Given the description of an element on the screen output the (x, y) to click on. 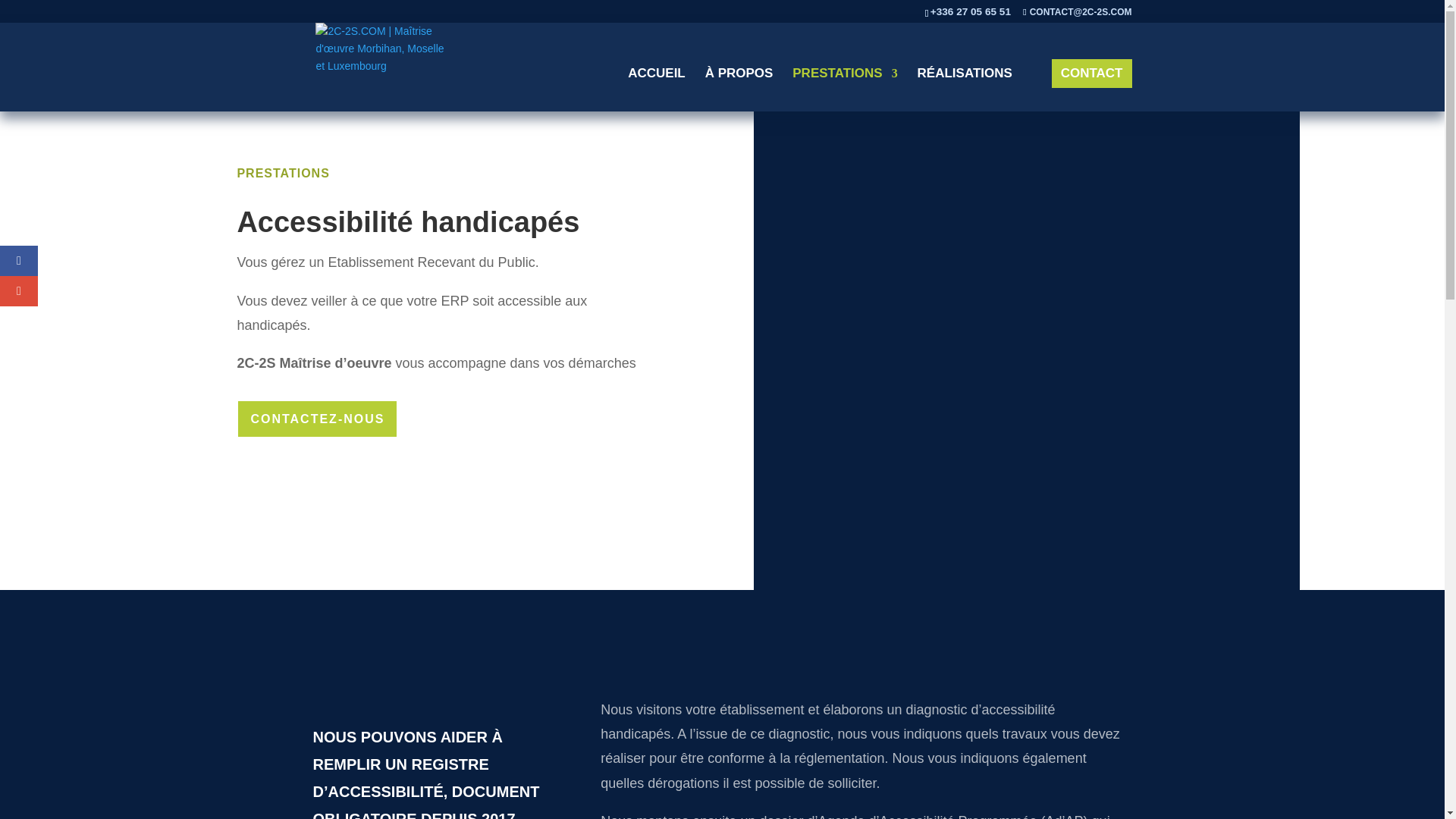
CONTACTEZ-NOUS Element type: text (317, 418)
CONTACT@2C-2S.COM Element type: text (1076, 11)
ACCUEIL Element type: text (656, 89)
PRESTATIONS Element type: text (282, 172)
CONTACT Element type: text (1091, 73)
PRESTATIONS Element type: text (844, 89)
